Given the description of an element on the screen output the (x, y) to click on. 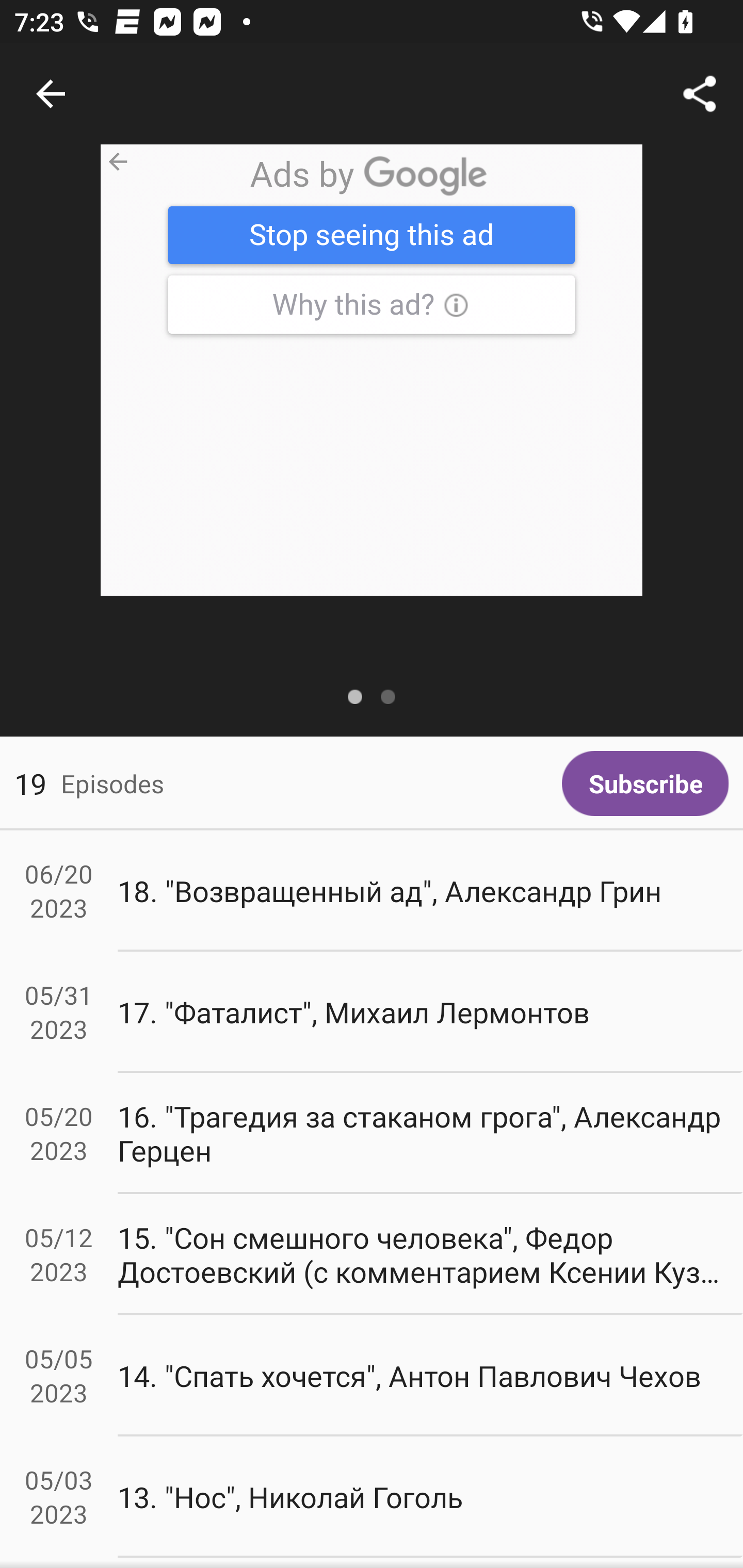
Navigate up (50, 93)
Share... (699, 93)
Subscribe (644, 783)
06/20 2023 18. "Возвращенный ад", Александр Грин (371, 891)
05/31 2023 17. "Фаталист", Михаил Лермонтов (371, 1011)
05/03 2023 13. "Нос", Николай Гоголь (371, 1496)
